Given the description of an element on the screen output the (x, y) to click on. 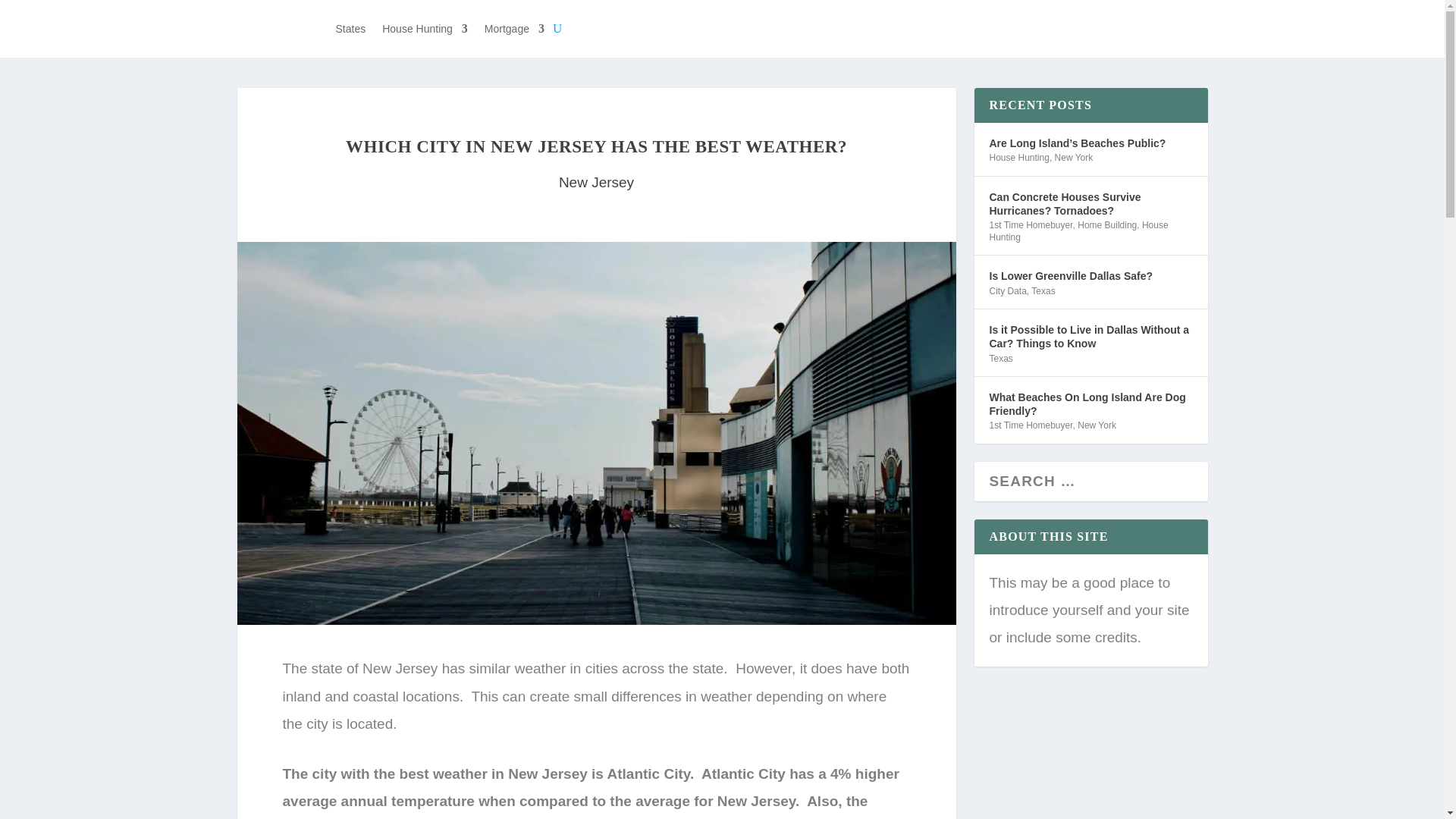
Mortgage (514, 28)
Texas (999, 357)
What Beaches On Long Island Are Dog Friendly? (1090, 404)
New Jersey (596, 182)
Can Concrete Houses Survive Hurricanes? Tornadoes? (1090, 204)
Is Lower Greenville Dallas Safe? (1070, 275)
Home Building (1107, 225)
City Data (1007, 290)
New York (1073, 157)
House Hunting (1018, 157)
